Given the description of an element on the screen output the (x, y) to click on. 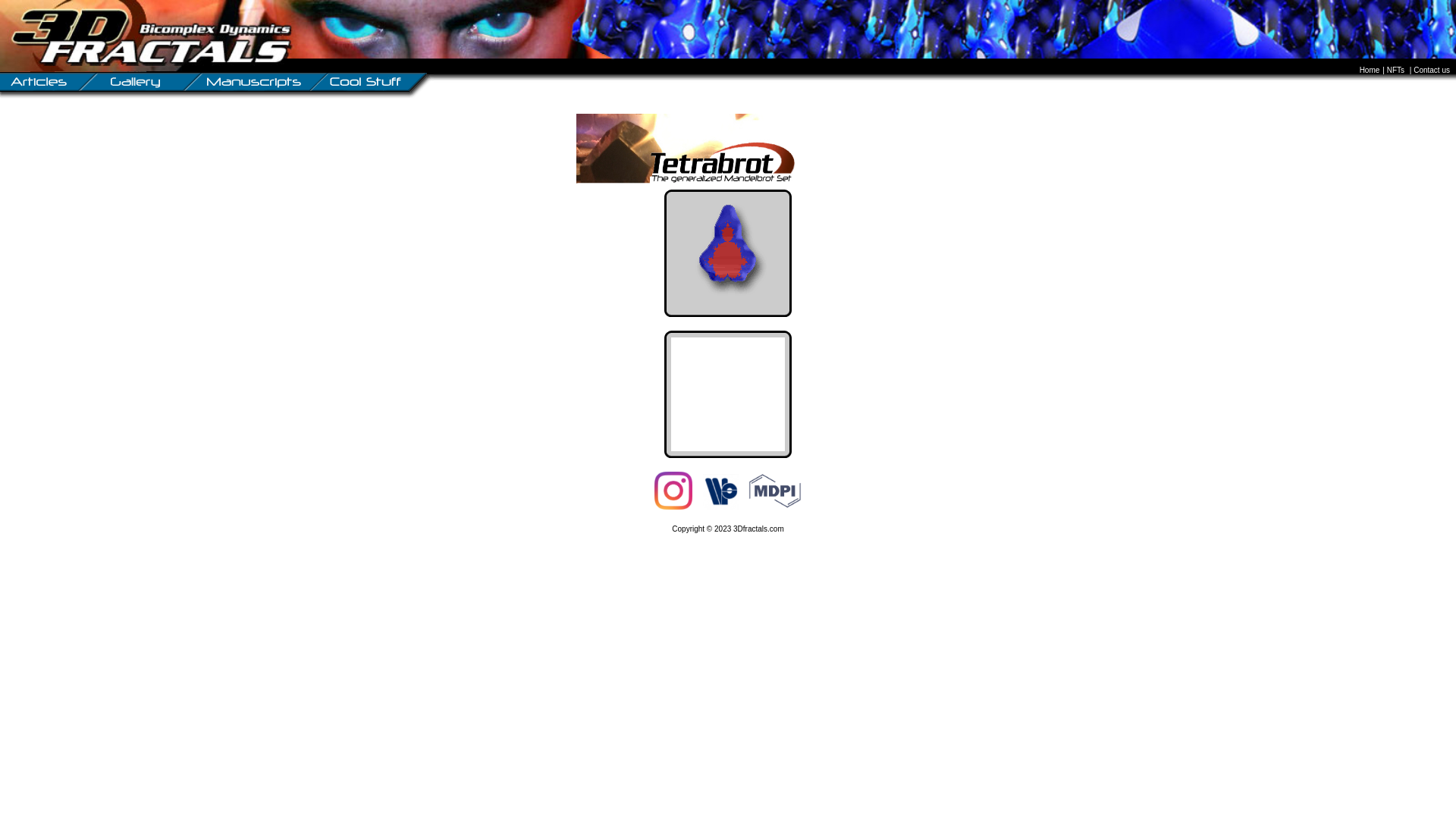
Contact us Element type: text (1432, 70)
Home Element type: text (1371, 70)
NFTs Element type: text (1395, 70)
